Given the description of an element on the screen output the (x, y) to click on. 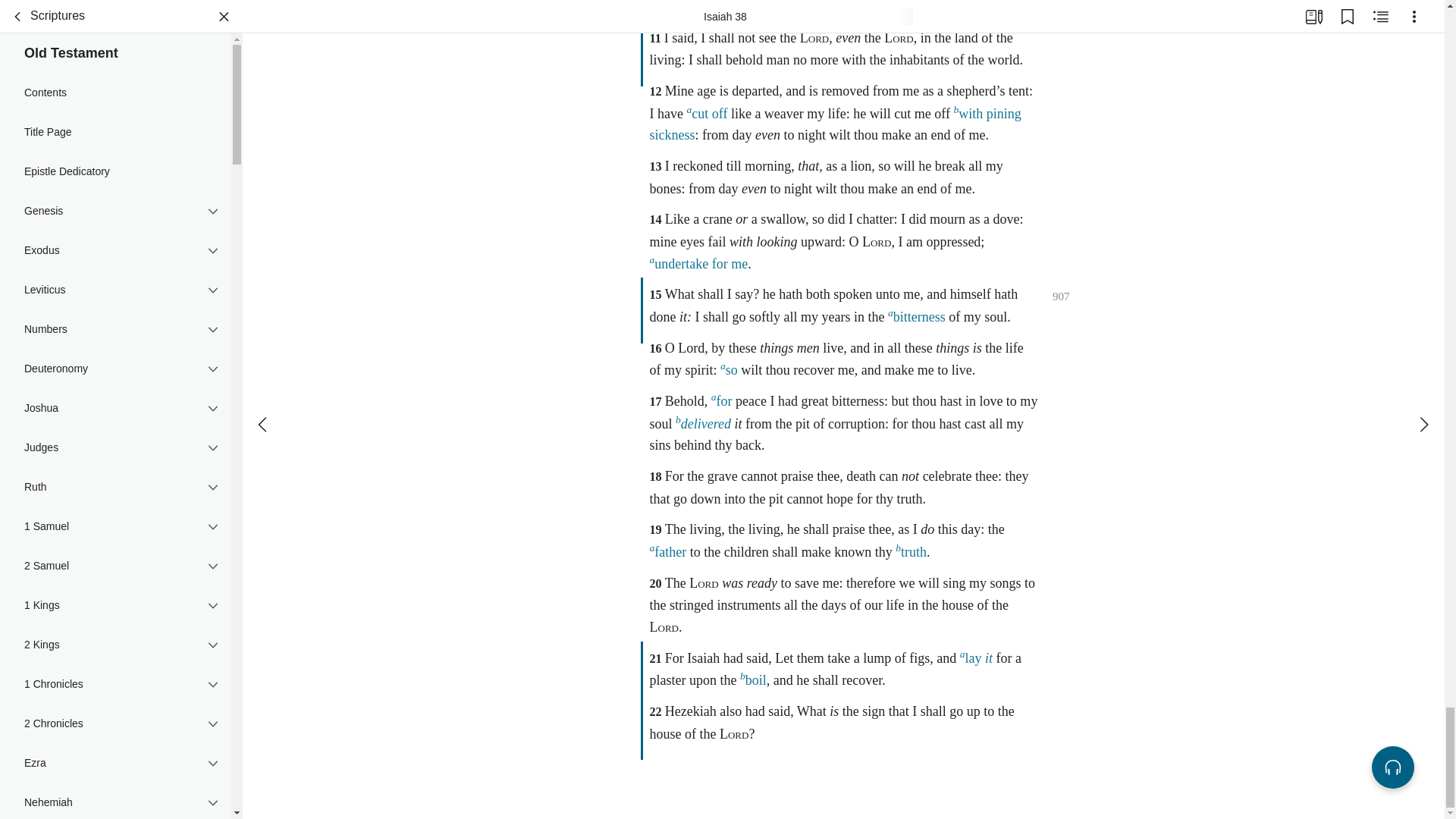
Nehemiah (115, 56)
Psalms (115, 175)
Isaiah 10 (115, 639)
Isaiah 8 (115, 584)
Contents (115, 366)
Proverbs (115, 215)
Isaiah 3 (115, 448)
Song of Solomon (115, 293)
Job (115, 136)
Isaiah 2 (115, 420)
